Given the description of an element on the screen output the (x, y) to click on. 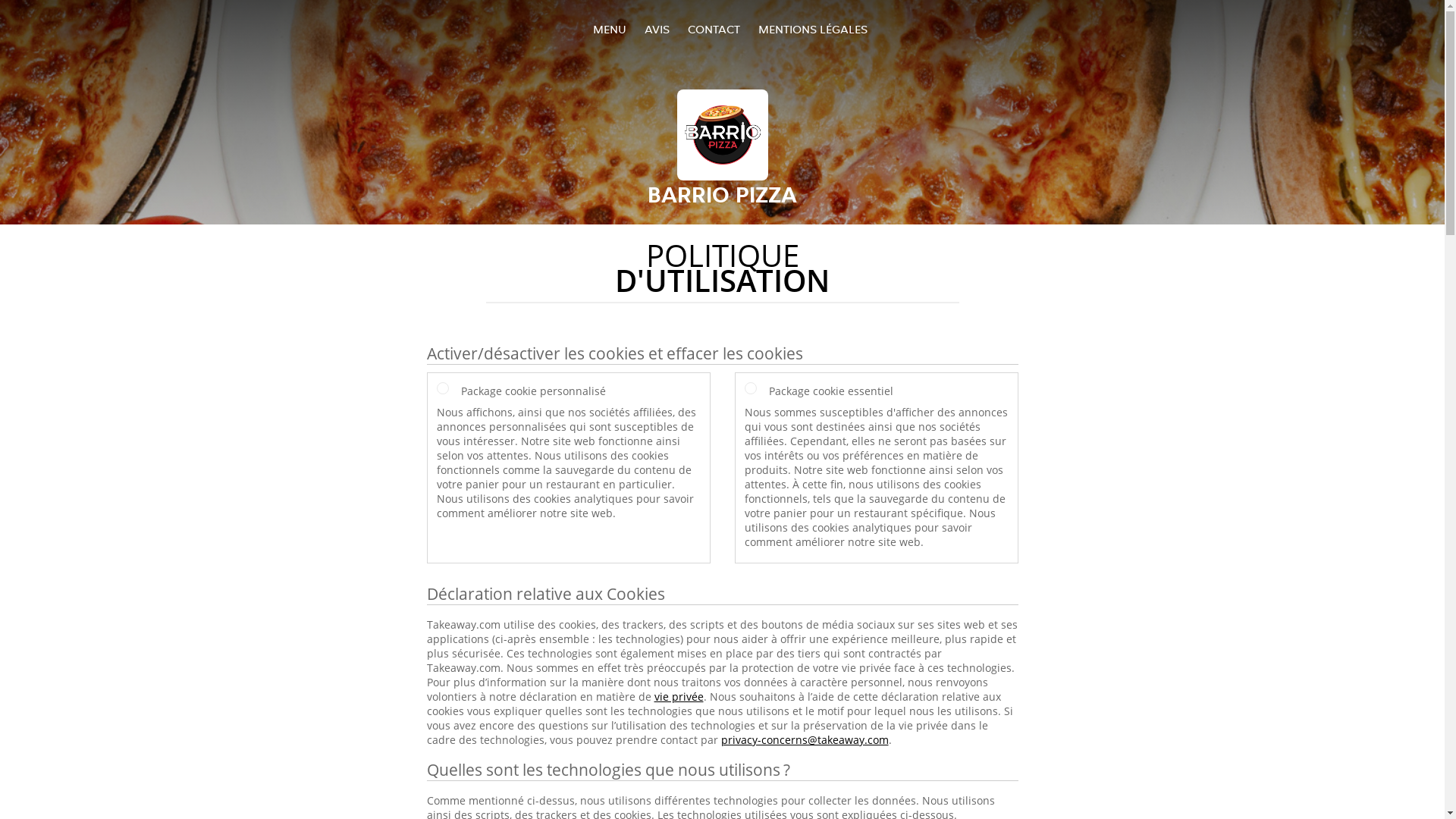
privacy-concerns@takeaway.com Element type: text (804, 739)
CONTACT Element type: text (713, 29)
MENU Element type: text (609, 29)
AVIS Element type: text (656, 29)
